Given the description of an element on the screen output the (x, y) to click on. 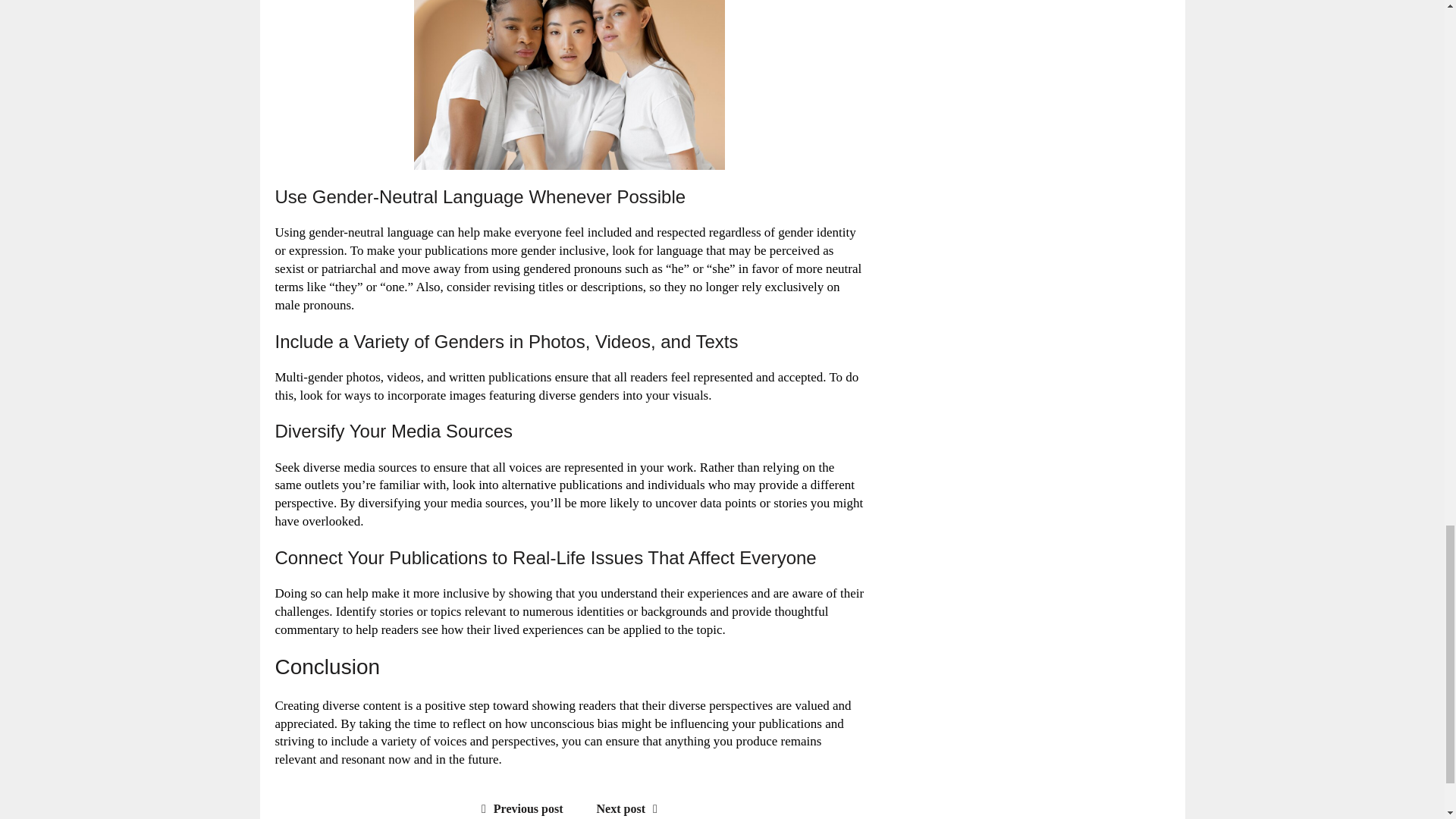
Previous post (518, 808)
Next post (630, 808)
